Given the description of an element on the screen output the (x, y) to click on. 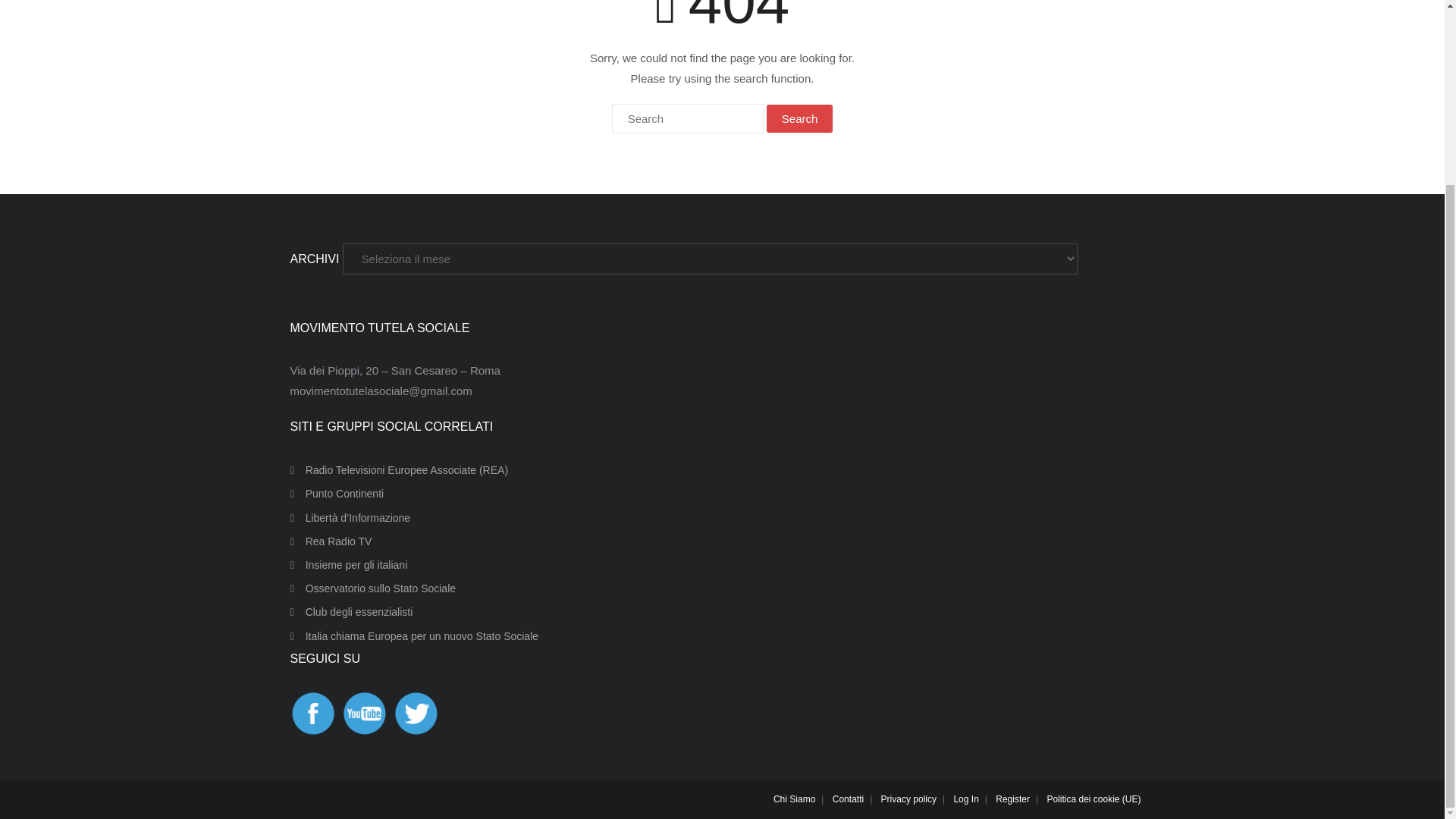
Search (799, 118)
Search (799, 118)
Search (799, 118)
Punto Continenti (336, 494)
Rea Radio TV (330, 541)
Club degli essenzialisti (350, 611)
Osservatorio sullo Stato Sociale (372, 588)
Insieme per gli italiani (348, 565)
